Given the description of an element on the screen output the (x, y) to click on. 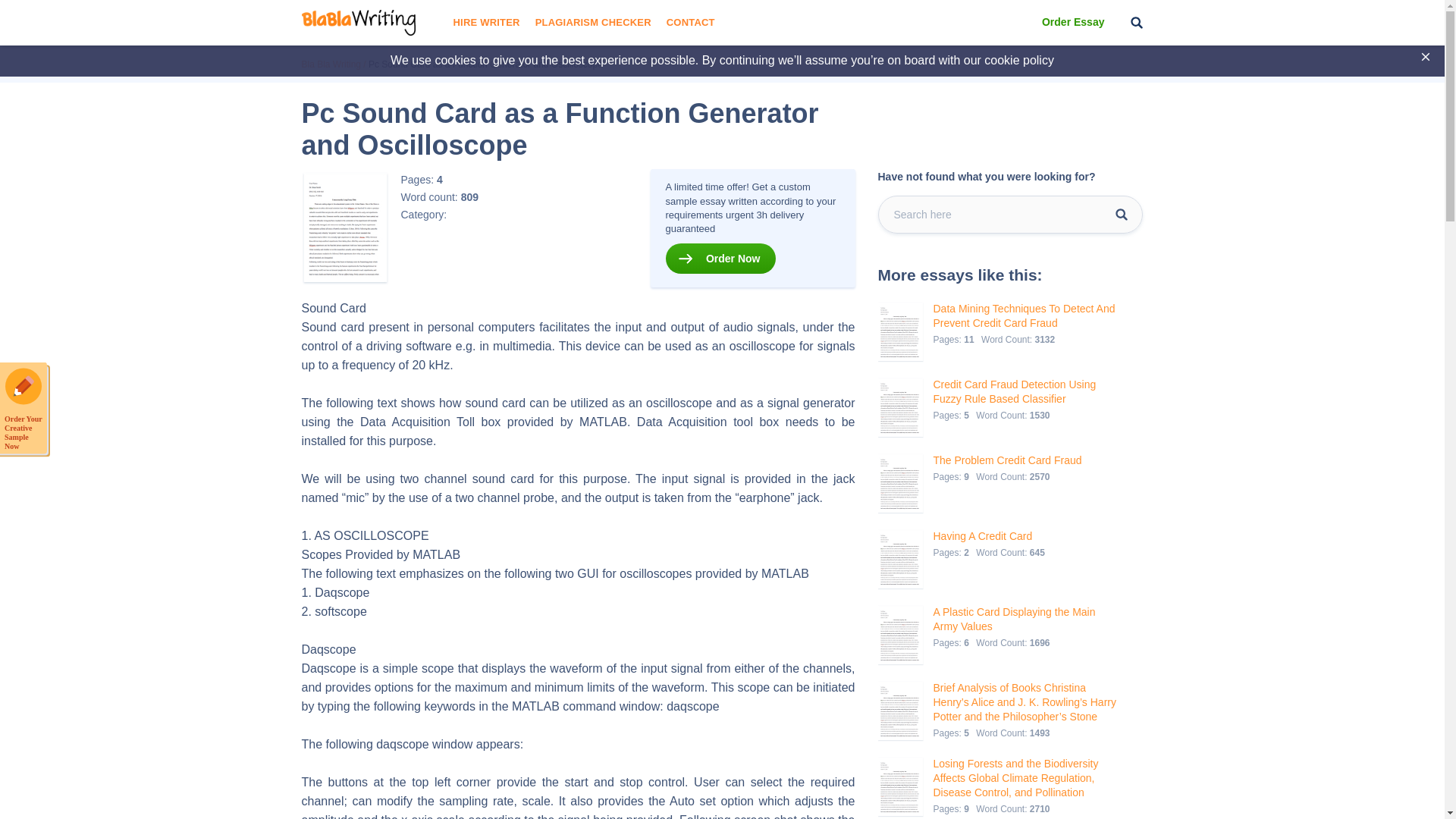
Having A Credit Card (990, 536)
CONTACT (690, 22)
A Plastic Card Displaying the Main Army Values (1025, 619)
HIRE WRITER (485, 22)
The Problem Credit Card Fraud (1007, 460)
Bla Bla Writing (331, 63)
Order Now (720, 258)
PLAGIARISM CHECKER (592, 22)
Bla Bla Writing. (331, 63)
cookie policy (1019, 60)
Order Essay (1073, 22)
